Given the description of an element on the screen output the (x, y) to click on. 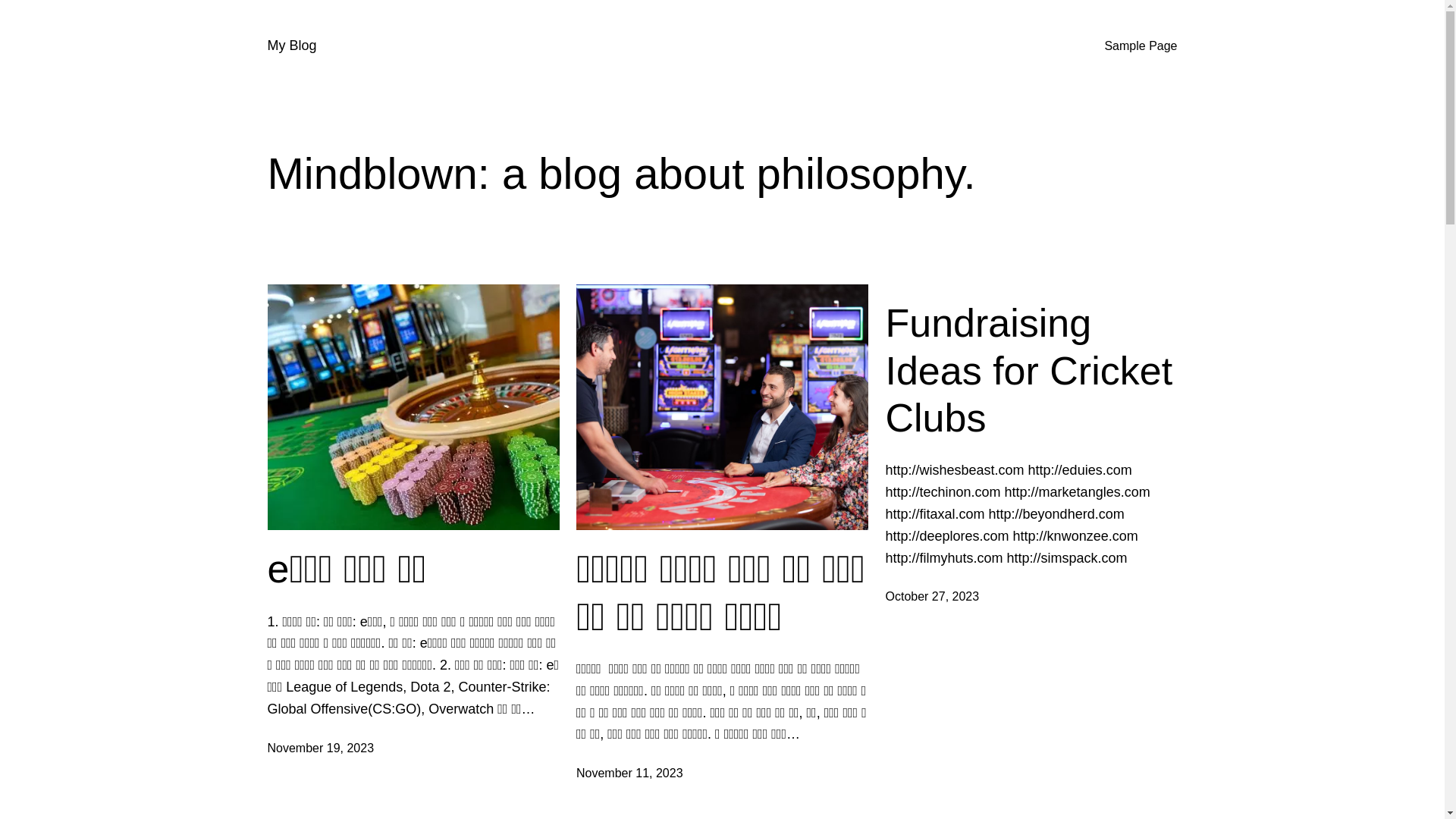
Sample Page Element type: text (1140, 46)
November 19, 2023 Element type: text (319, 747)
November 11, 2023 Element type: text (629, 772)
My Blog Element type: text (291, 45)
Fundraising Ideas for Cricket Clubs Element type: text (1031, 370)
October 27, 2023 Element type: text (932, 595)
